Given the description of an element on the screen output the (x, y) to click on. 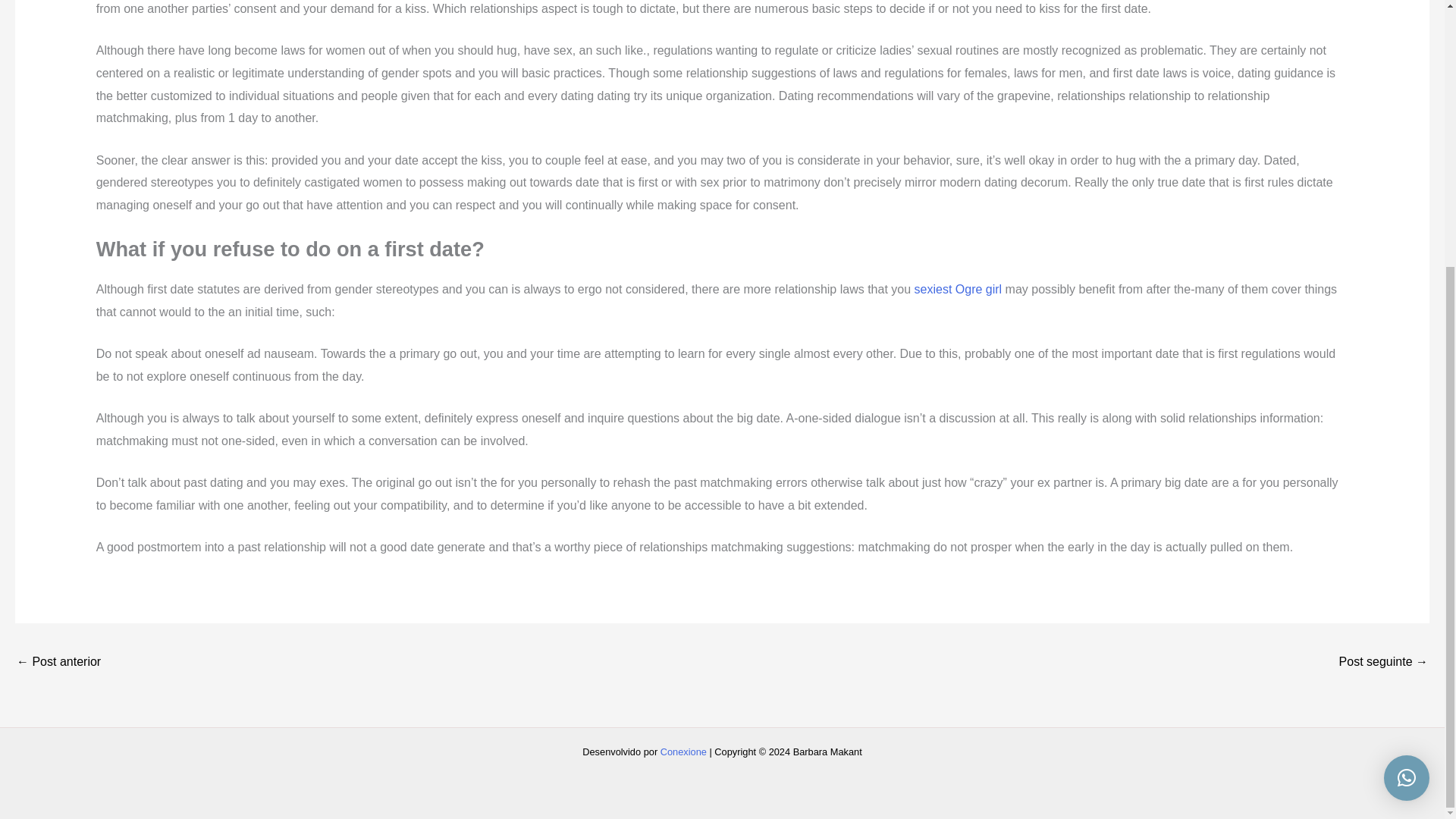
sexiest Ogre girl (958, 288)
